Given the description of an element on the screen output the (x, y) to click on. 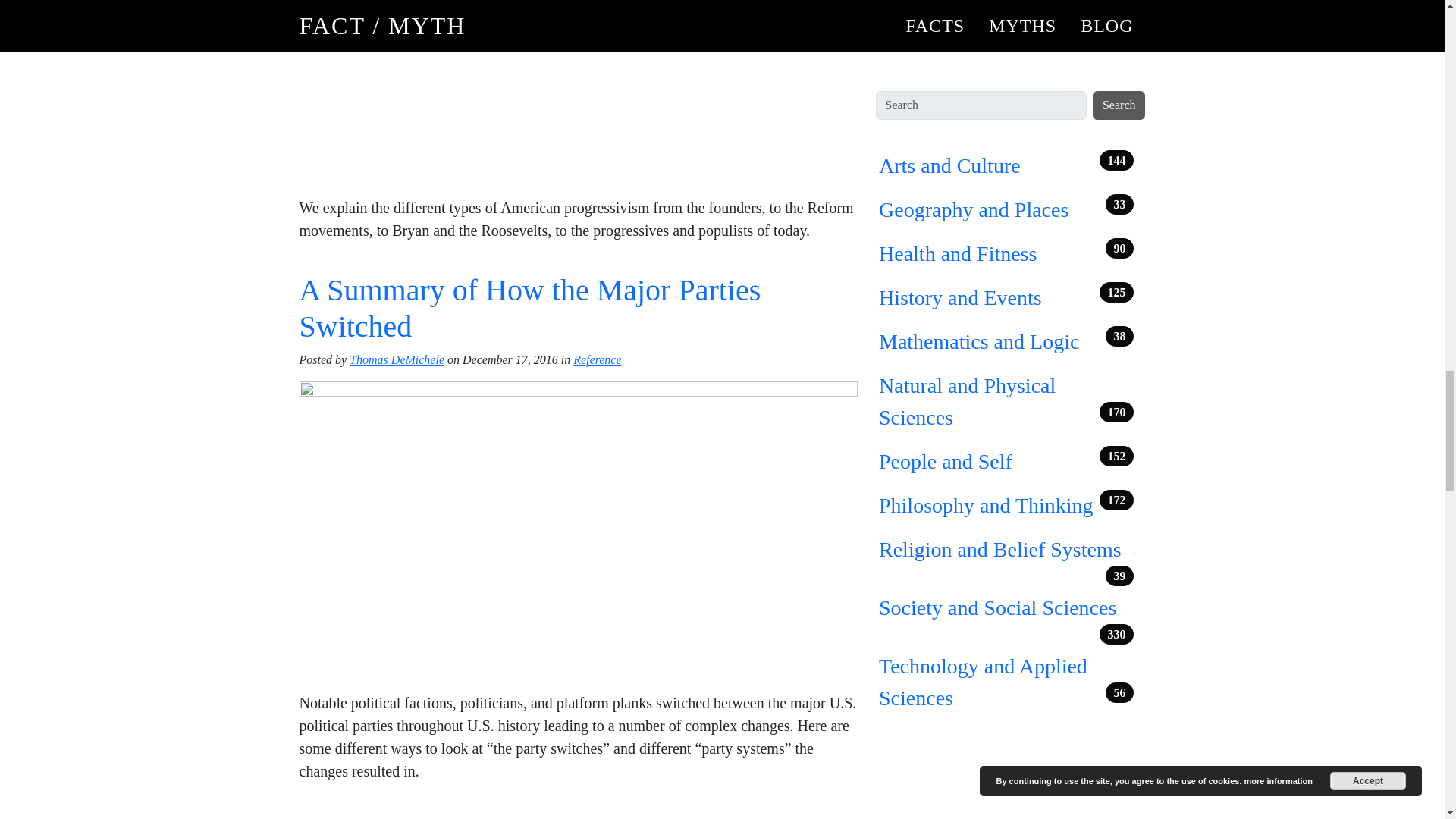
Reference (597, 359)
A Summary of How the Major Parties Switched (529, 307)
Posts by Thomas DeMichele (396, 359)
Thomas DeMichele (396, 359)
What is Liberalism? (421, 816)
